Given the description of an element on the screen output the (x, y) to click on. 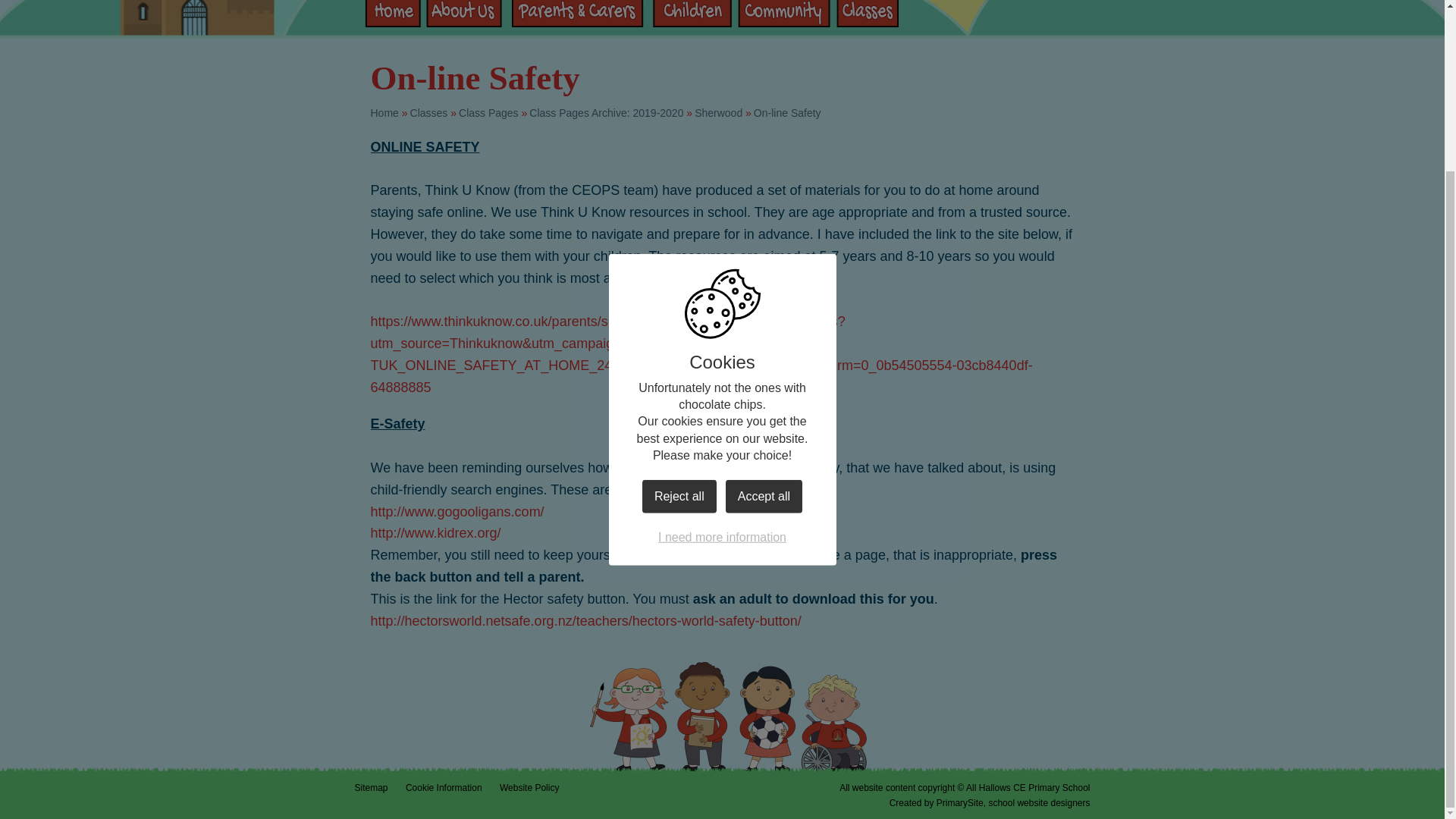
Class Pages Archive: 2019-2020 (605, 111)
Sherwood (718, 111)
About Us (464, 16)
Home (383, 111)
Home (390, 16)
On-line Safety (787, 111)
Classes (429, 111)
Class Pages (488, 111)
